Given the description of an element on the screen output the (x, y) to click on. 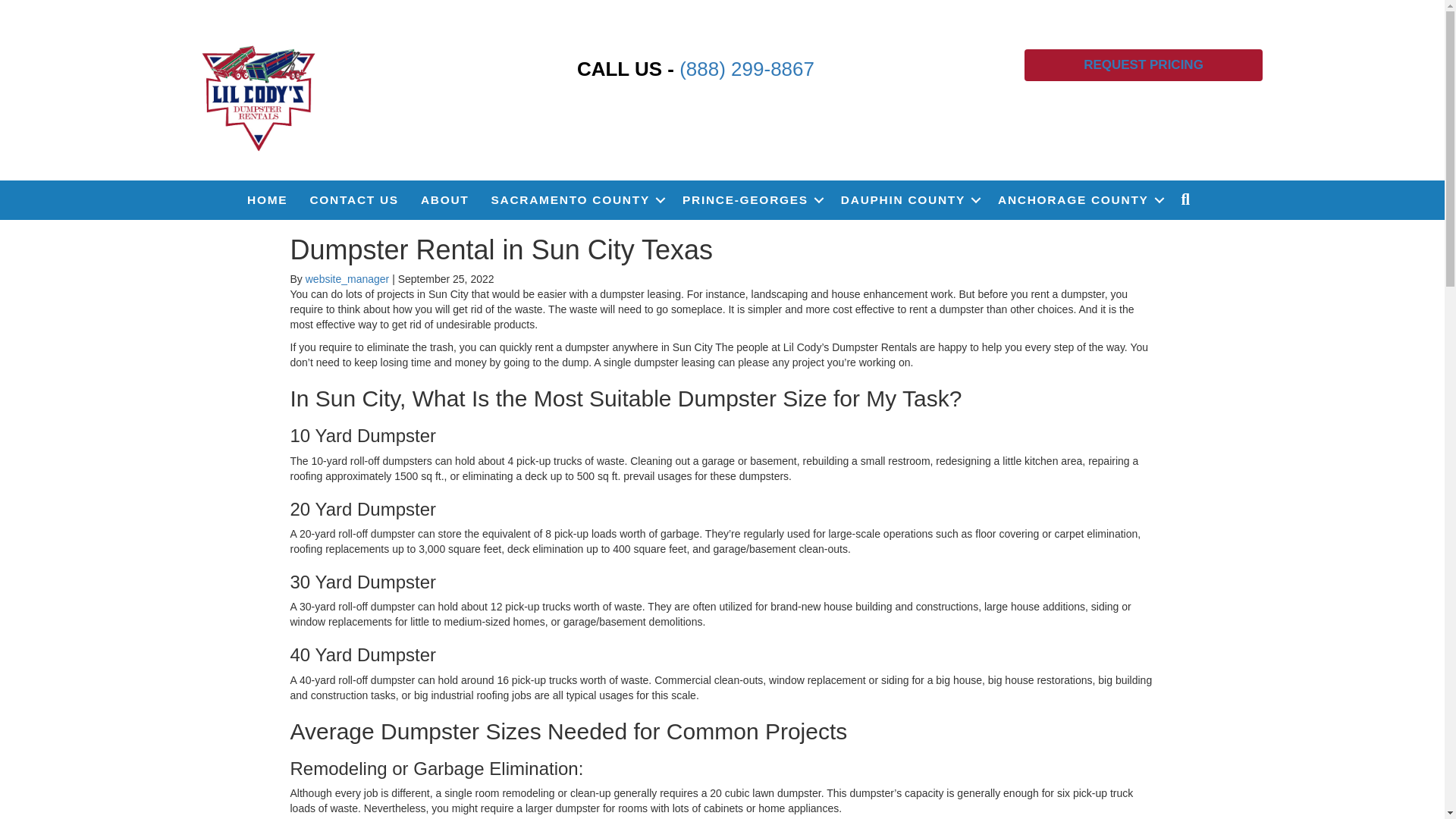
ABOUT (445, 199)
SACRAMENTO COUNTY (575, 199)
REQUEST PRICING (1144, 65)
PRINCE-GEORGES (750, 199)
lilcodysdumpsters (258, 95)
ANCHORAGE COUNTY (1078, 199)
HOME (266, 199)
DAUPHIN COUNTY (908, 199)
CONTACT US (353, 199)
Skip to content (34, 6)
